Given the description of an element on the screen output the (x, y) to click on. 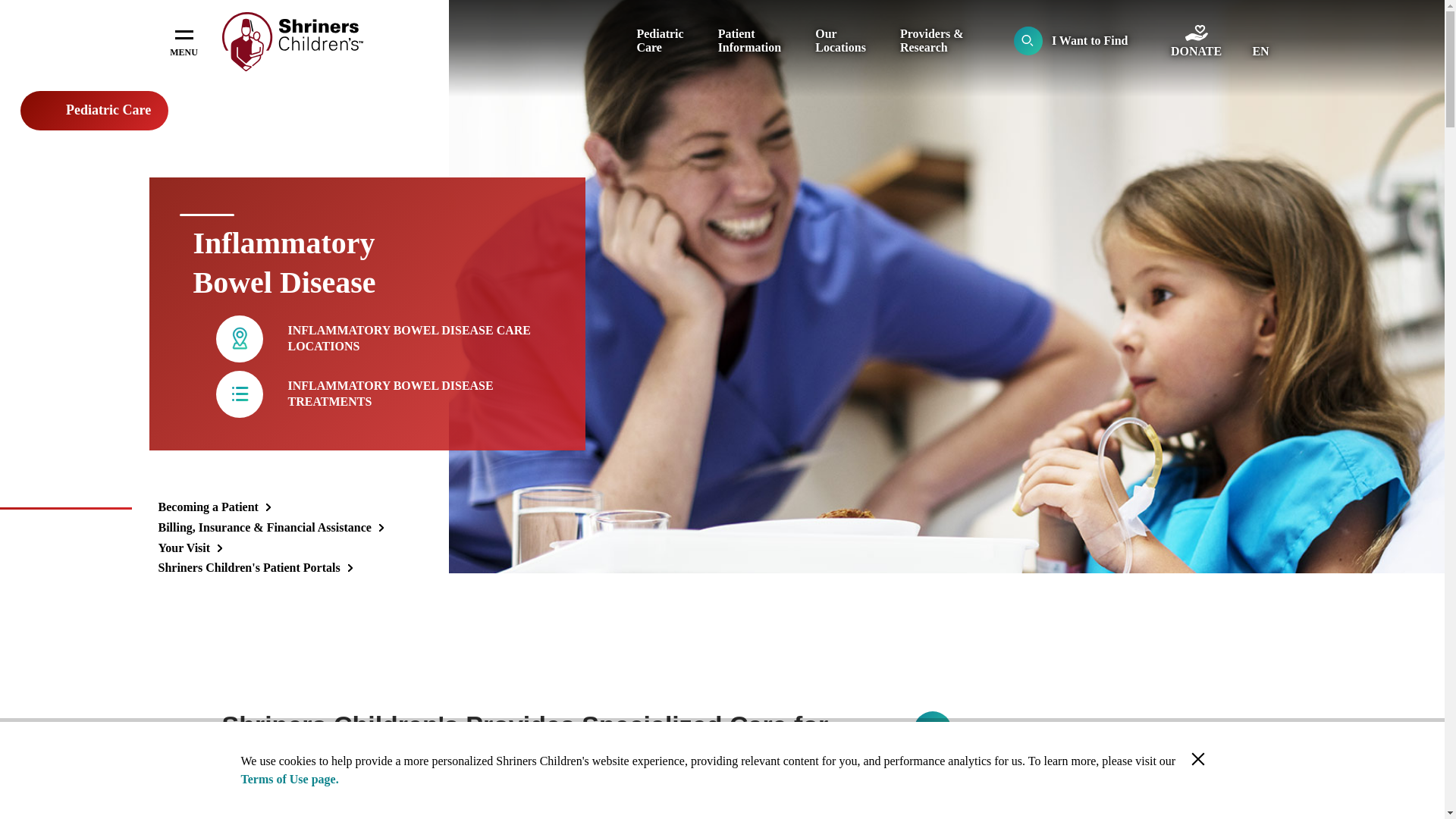
Pediatric Care (659, 40)
Patient Information (749, 40)
Our Locations (840, 40)
MENU (183, 40)
EN (1259, 51)
I Want to Find (1070, 40)
